Given the description of an element on the screen output the (x, y) to click on. 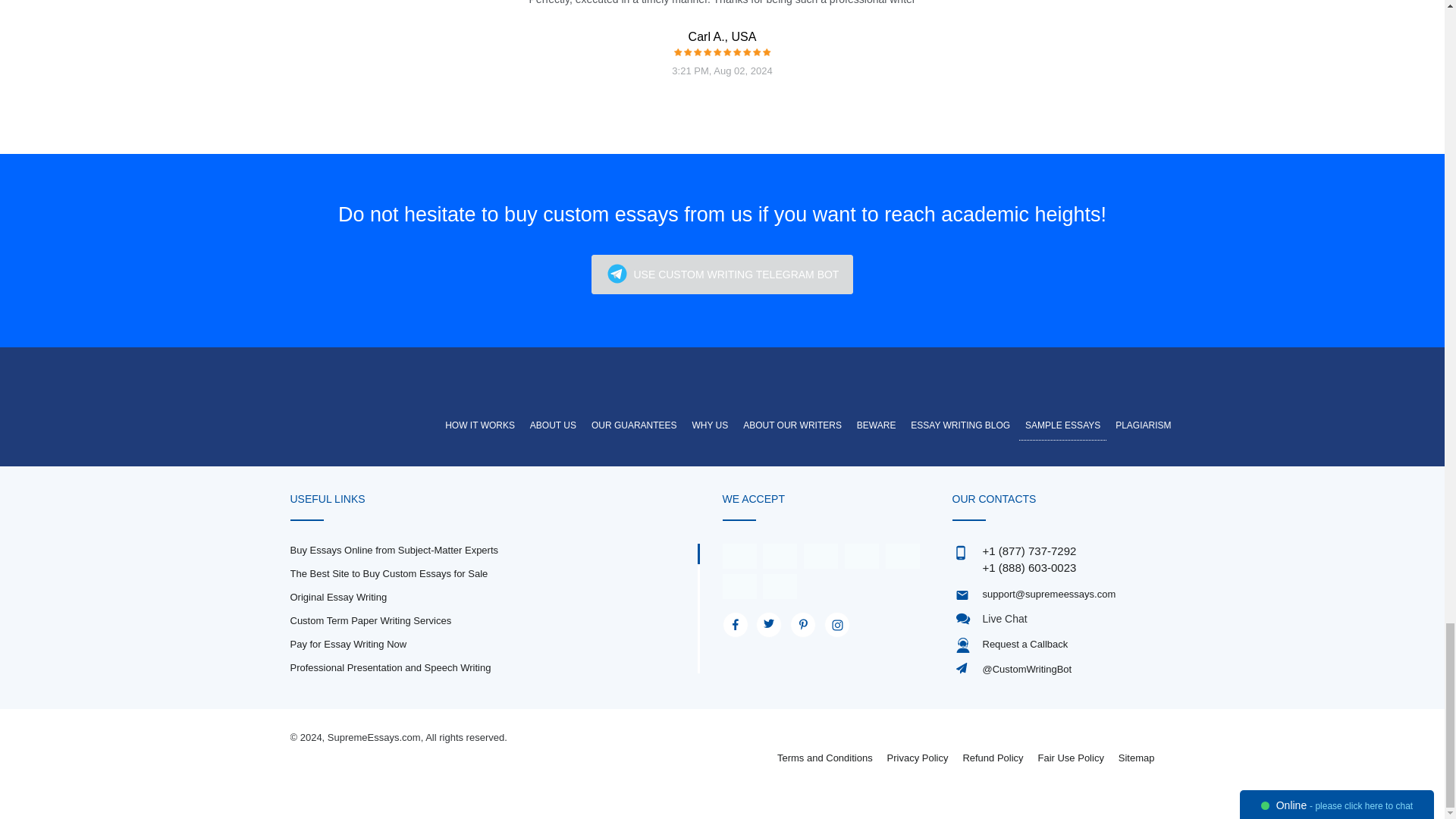
Apple pay (861, 554)
Supremeessays.com (374, 390)
Credit cards by Diners Club (738, 585)
Credit and debit cards by MasterCard (779, 554)
Credit cards by American Express (820, 554)
Credit cards by Discover (902, 554)
Credit and debit cards by Visa (738, 554)
Credit cards by JCB (779, 585)
